Given the description of an element on the screen output the (x, y) to click on. 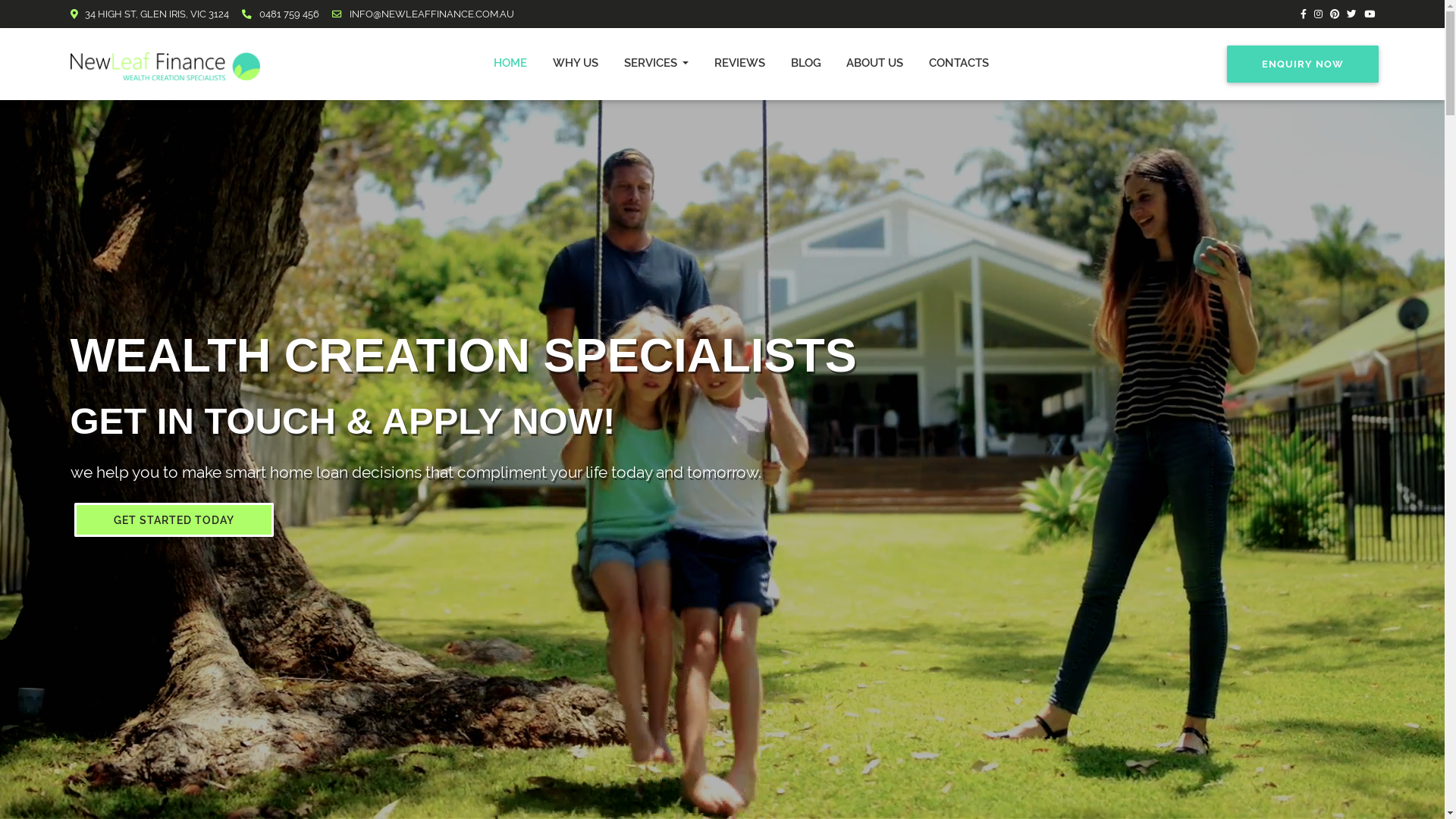
WHY US Element type: text (575, 63)
0481 759 456 Element type: text (285, 13)
REVIEWS Element type: text (739, 63)
HOME Element type: text (510, 63)
ABOUT US Element type: text (874, 63)
ENQUIRY NOW Element type: text (1302, 63)
34 HIGH ST, GLEN IRIS, VIC 3124 Element type: text (153, 13)
SERVICES Element type: text (656, 63)
INFO@NEWLEAFFINANCE.COM.AU Element type: text (423, 13)
GET STARTED TODAY Element type: text (173, 519)
BLOG Element type: text (806, 63)
CONTACTS Element type: text (958, 63)
